Given the description of an element on the screen output the (x, y) to click on. 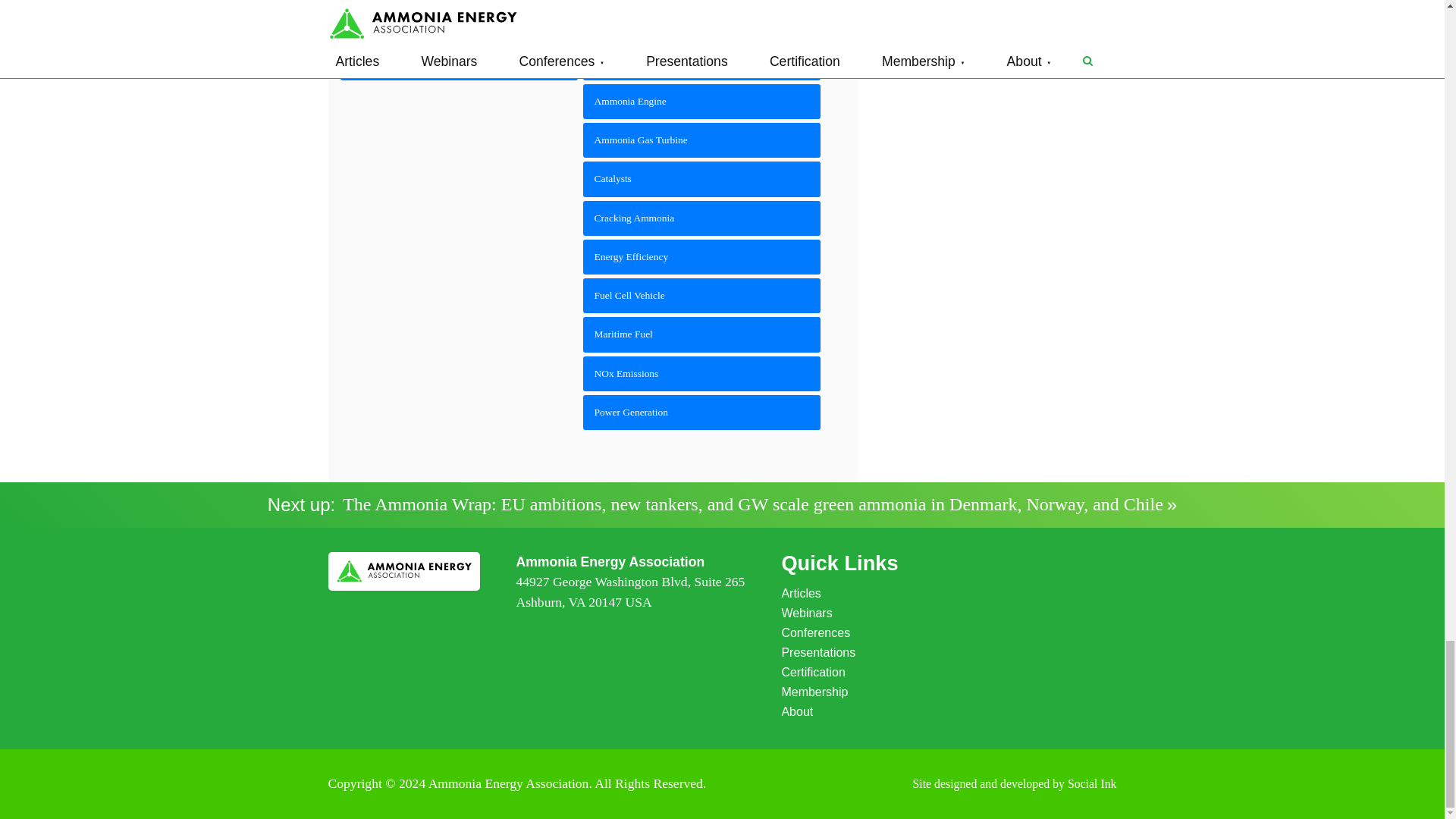
See other items in Ammonia Gas Turbine Topics (702, 140)
See other items in Fuel Cell Vehicle Topics (702, 295)
See other items in Power Generation Topics (702, 411)
See other items in NOx Emissions Topics (702, 373)
See other items in Cracking Ammonia Topics (702, 217)
See other items in Ammonia Engine Topics (702, 101)
See other items in Maritime Fuel Topics (702, 334)
See other items in Catalysts Topics (702, 178)
See other items in Conference Categories (457, 62)
See other items in Energy Efficiency Topics (702, 256)
